Given the description of an element on the screen output the (x, y) to click on. 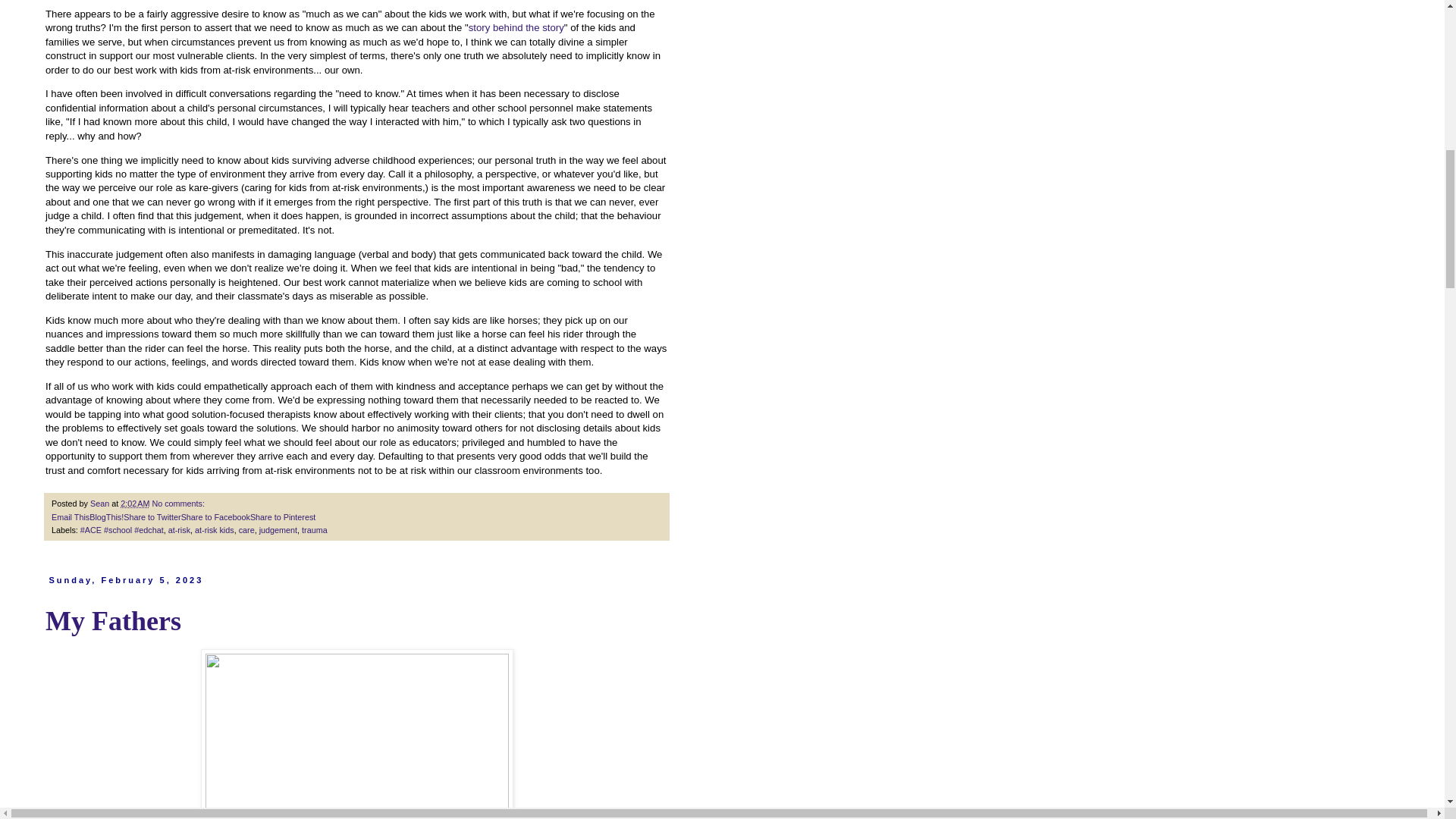
story behind the story (516, 27)
Share to Pinterest (282, 516)
Email Post (213, 502)
care (246, 529)
My Fathers (112, 621)
trauma (314, 529)
author profile (101, 502)
BlogThis! (105, 516)
Share to Twitter (151, 516)
BlogThis! (105, 516)
Email This (69, 516)
permanent link (134, 502)
judgement (278, 529)
Sean (101, 502)
Share to Twitter (151, 516)
